Given the description of an element on the screen output the (x, y) to click on. 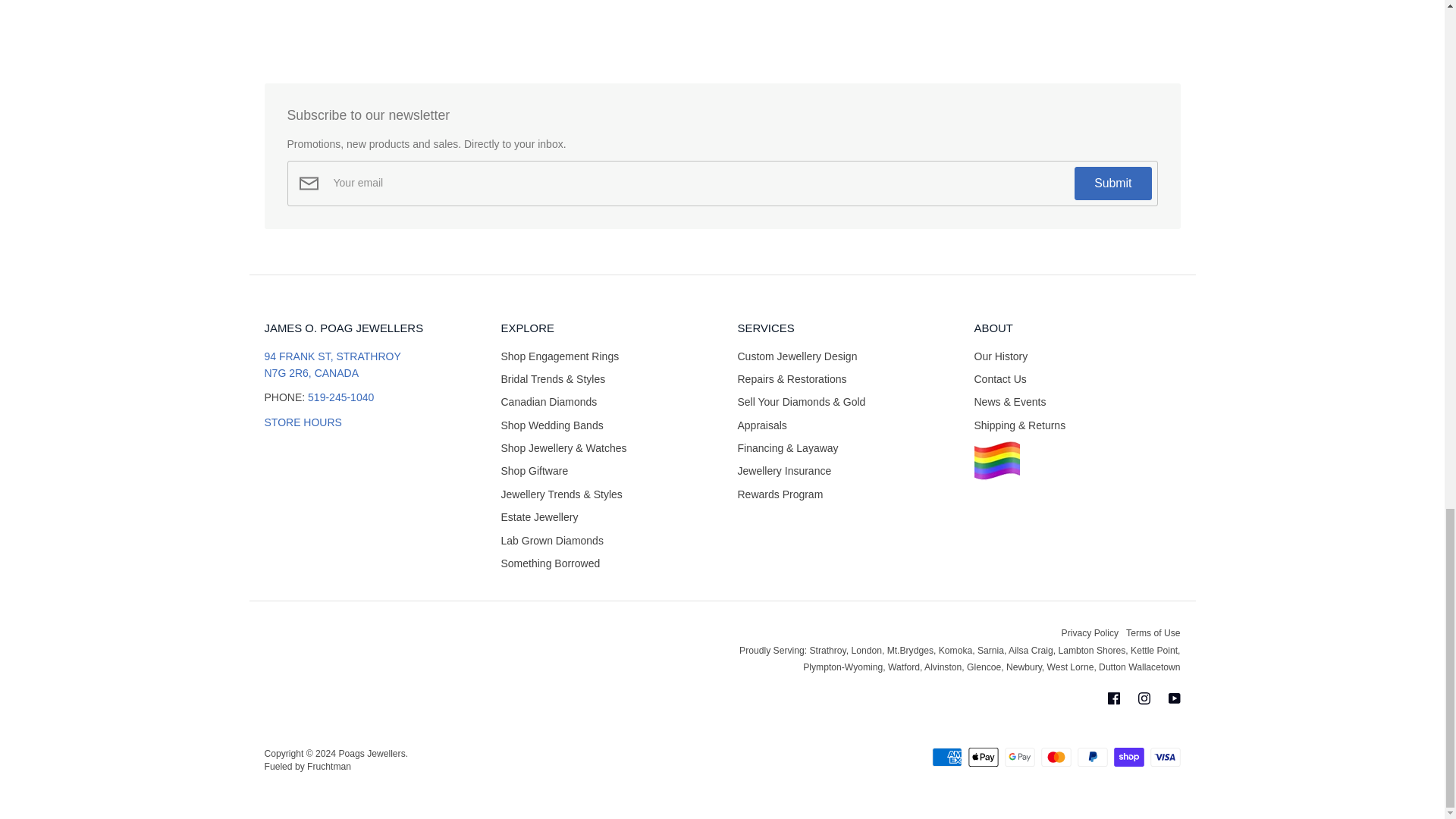
Google Pay (1019, 756)
Apple Pay (983, 756)
tel:5192451040 (340, 397)
Contact Us (301, 422)
American Express (946, 756)
PayPal (1092, 756)
Mastercard (1056, 756)
Visa (1164, 756)
Shop Pay (1128, 756)
